Given the description of an element on the screen output the (x, y) to click on. 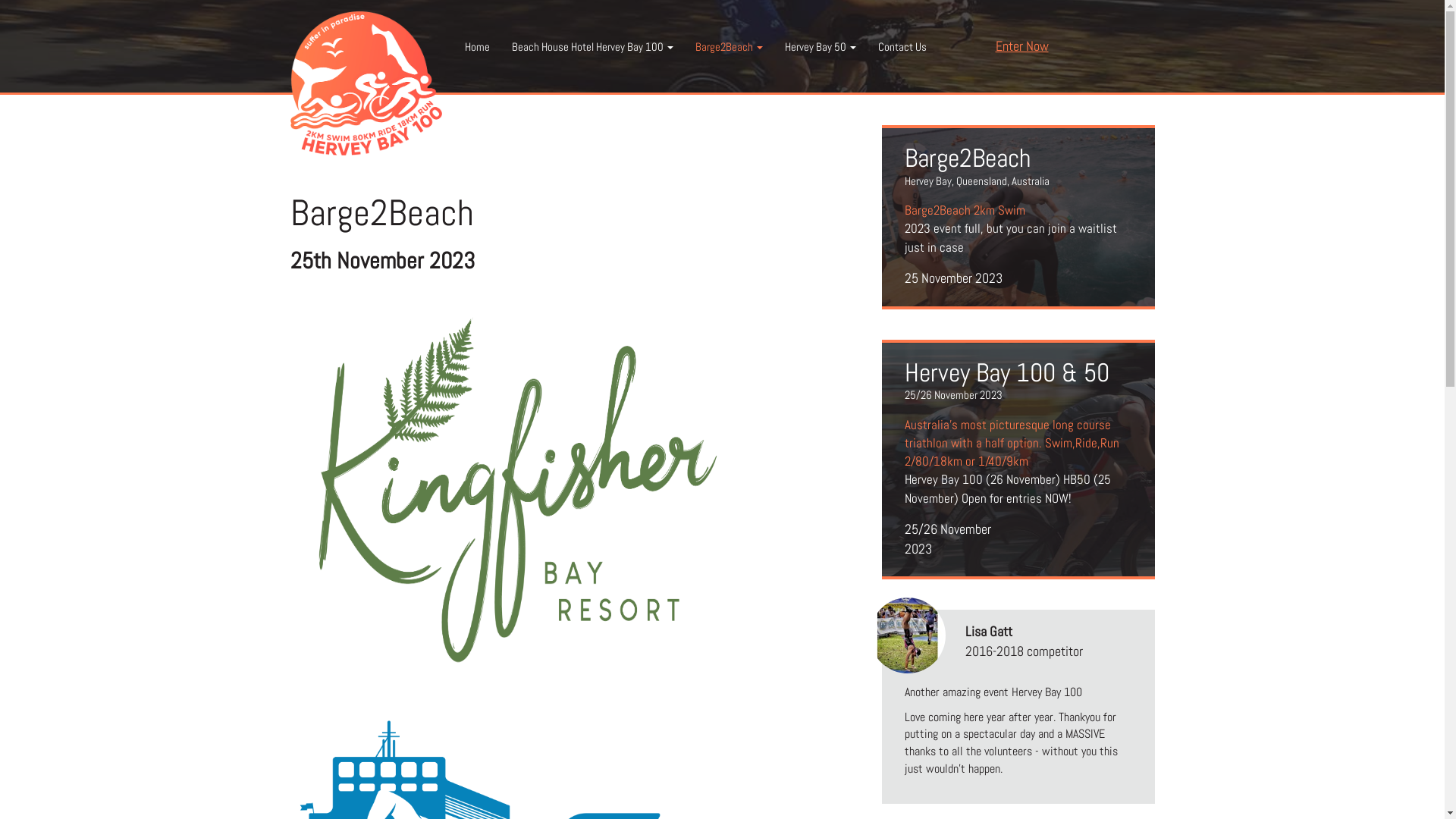
Home Element type: text (476, 46)
Contact Us Element type: text (902, 46)
Barge2Beach Element type: text (728, 46)
Enter Now Element type: text (1021, 45)
Beach House Hotel Hervey Bay 100 Element type: text (592, 46)
Hervey Bay 50 Element type: text (819, 46)
